Given the description of an element on the screen output the (x, y) to click on. 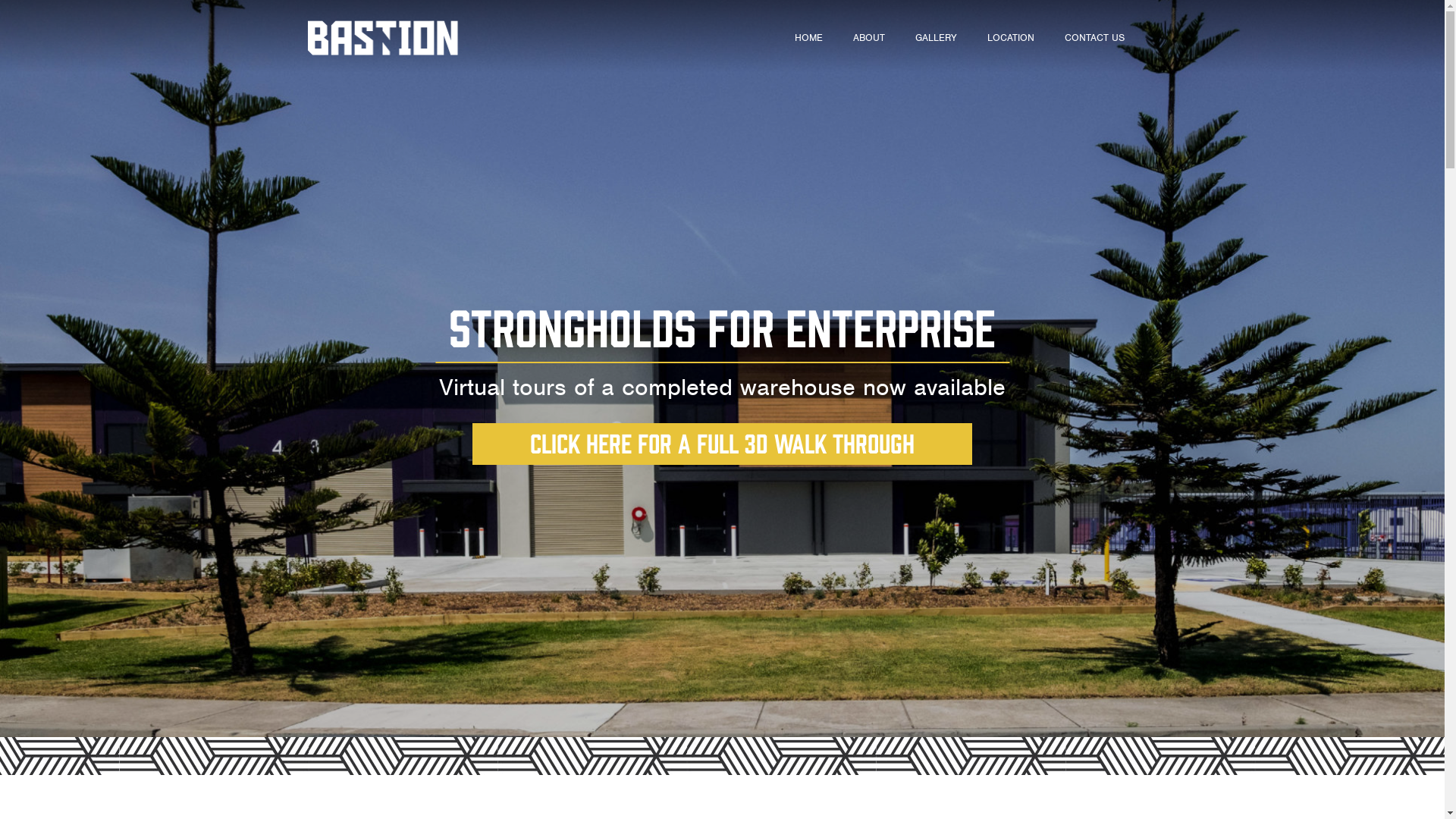
HOME Element type: text (808, 37)
CLICK HERE FOR A FULL 3D WALK THROUGH Element type: text (722, 443)
CONTACT US Element type: text (1094, 37)
GALLERY Element type: text (936, 37)
ABOUT Element type: text (868, 37)
LOCATION Element type: text (1010, 37)
